Given the description of an element on the screen output the (x, y) to click on. 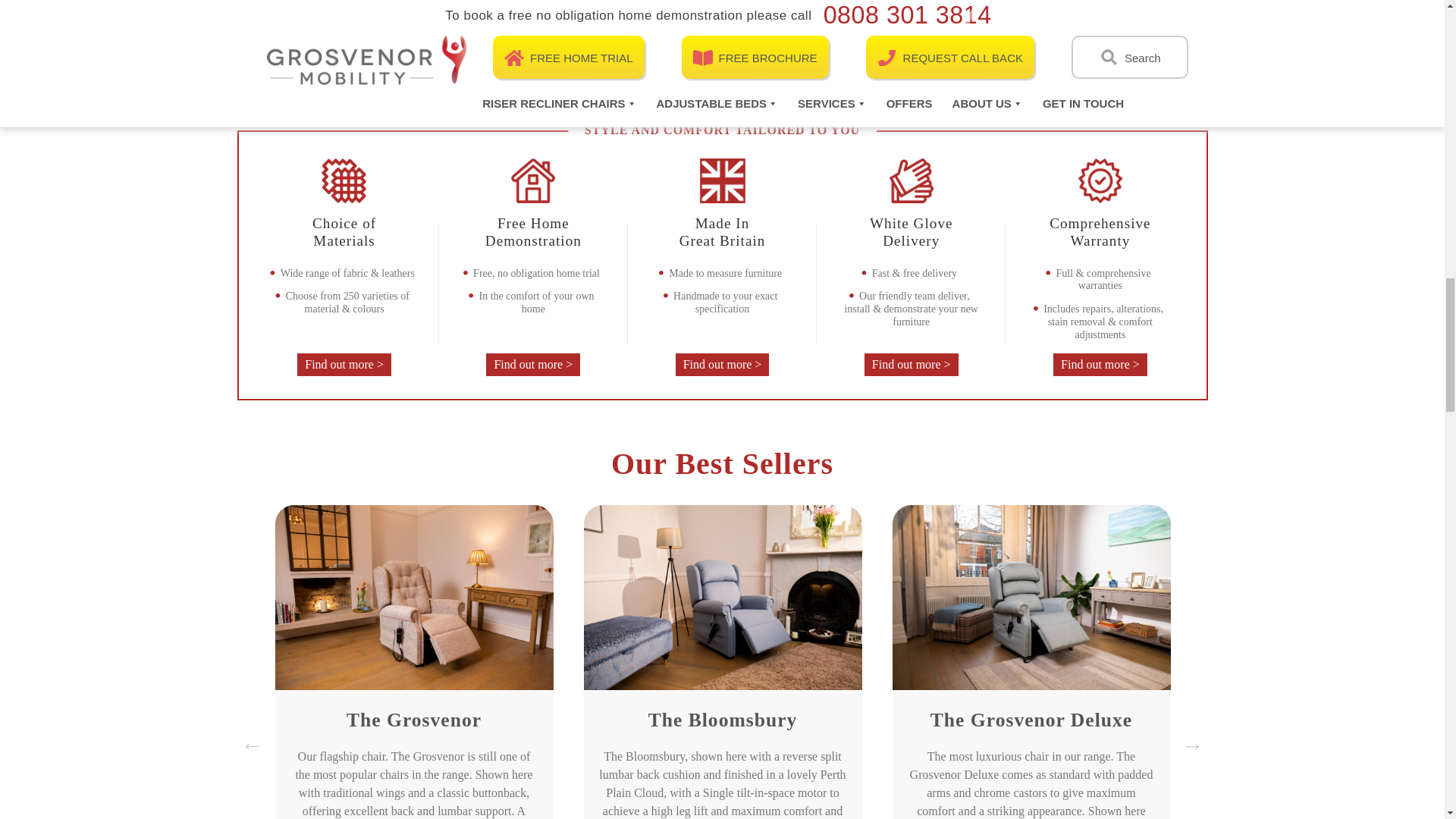
Customer reviews powered by Trustpilot (883, 79)
